Given the description of an element on the screen output the (x, y) to click on. 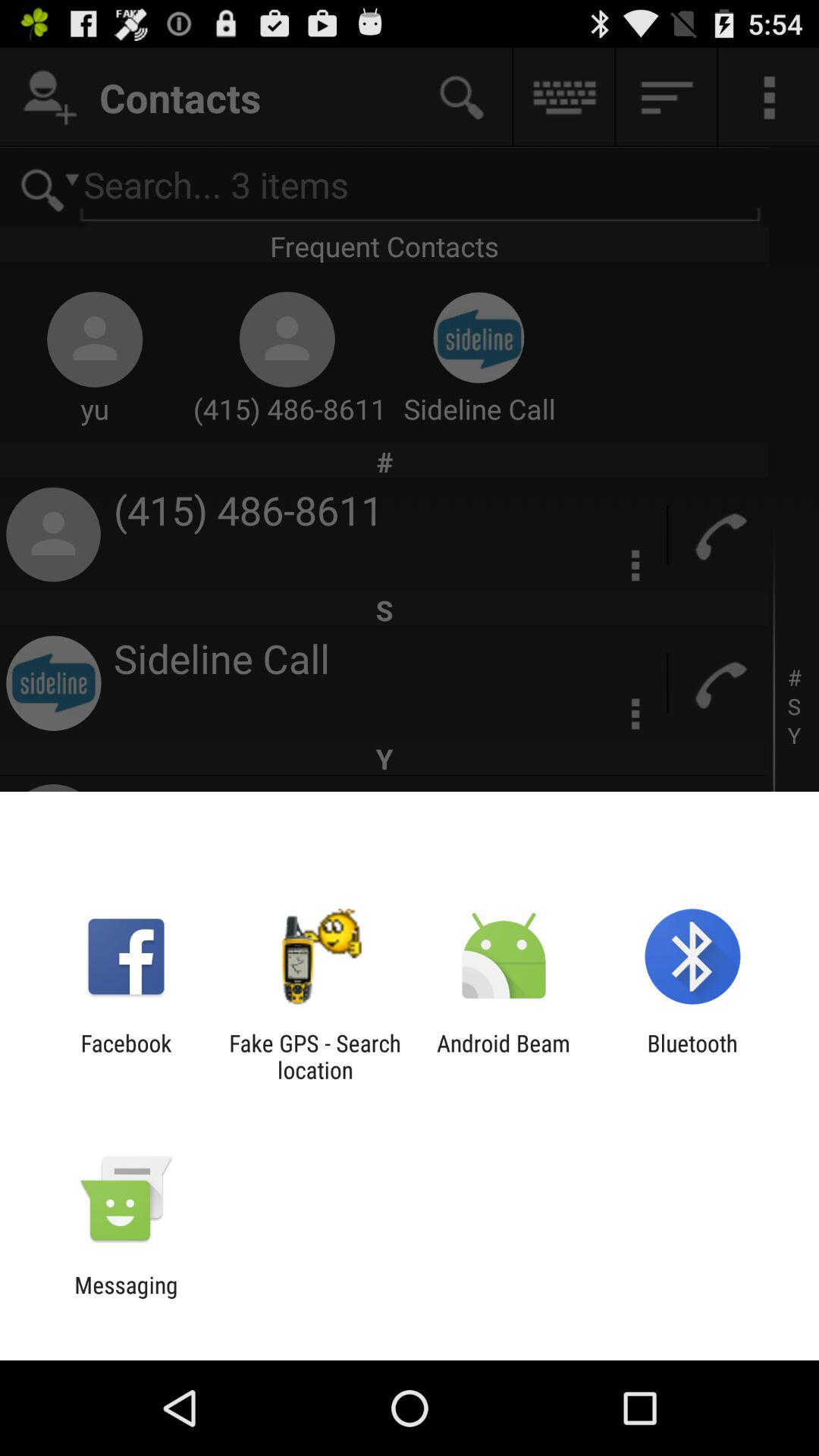
select the icon next to the android beam (314, 1056)
